Given the description of an element on the screen output the (x, y) to click on. 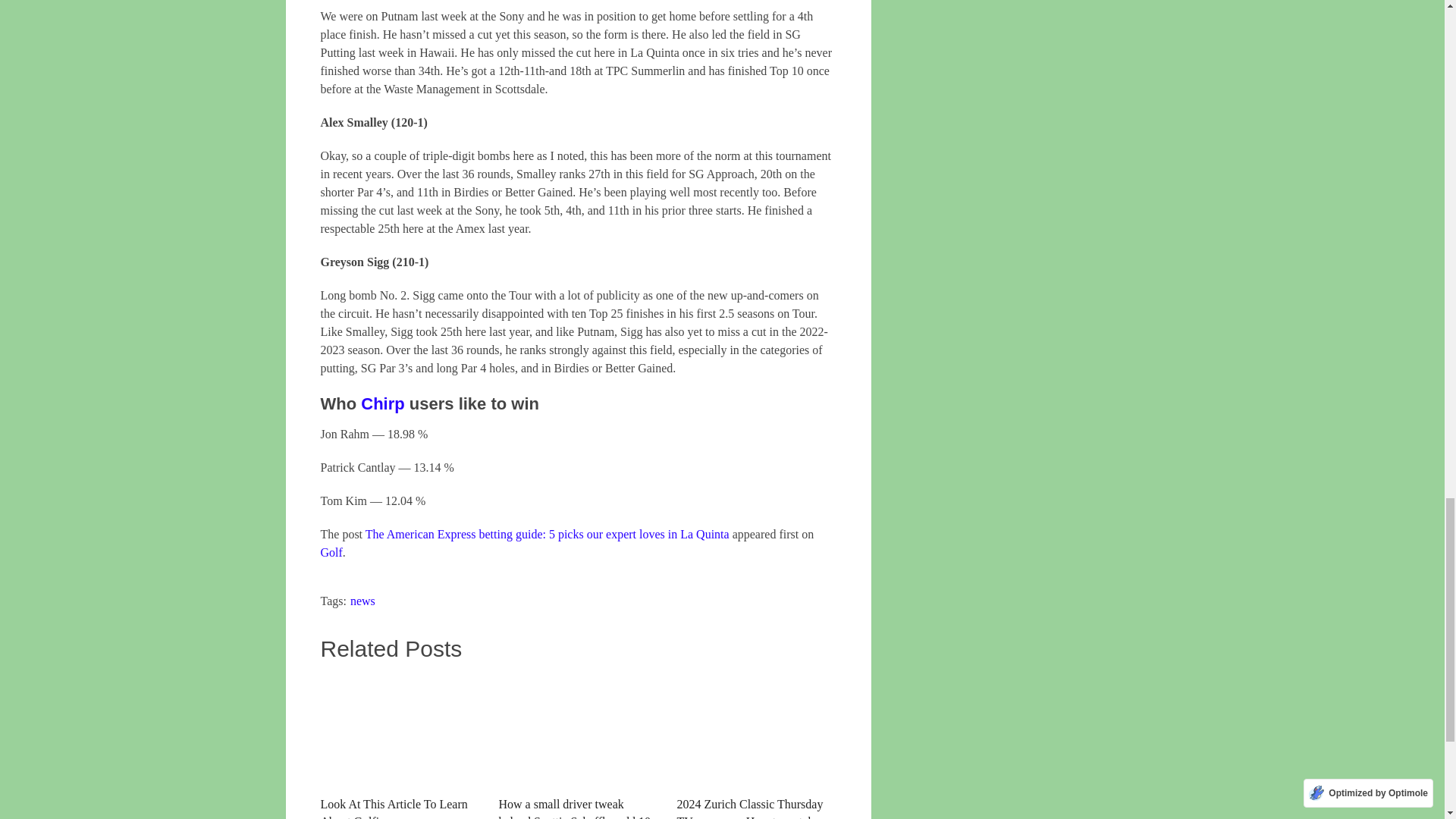
Look At This Article To Learn About Golfing (399, 746)
Look At This Article To Learn About Golfing (399, 730)
news (362, 600)
Look At This Article To Learn About Golfing (399, 746)
Golf (331, 552)
Chirp (382, 403)
